Given the description of an element on the screen output the (x, y) to click on. 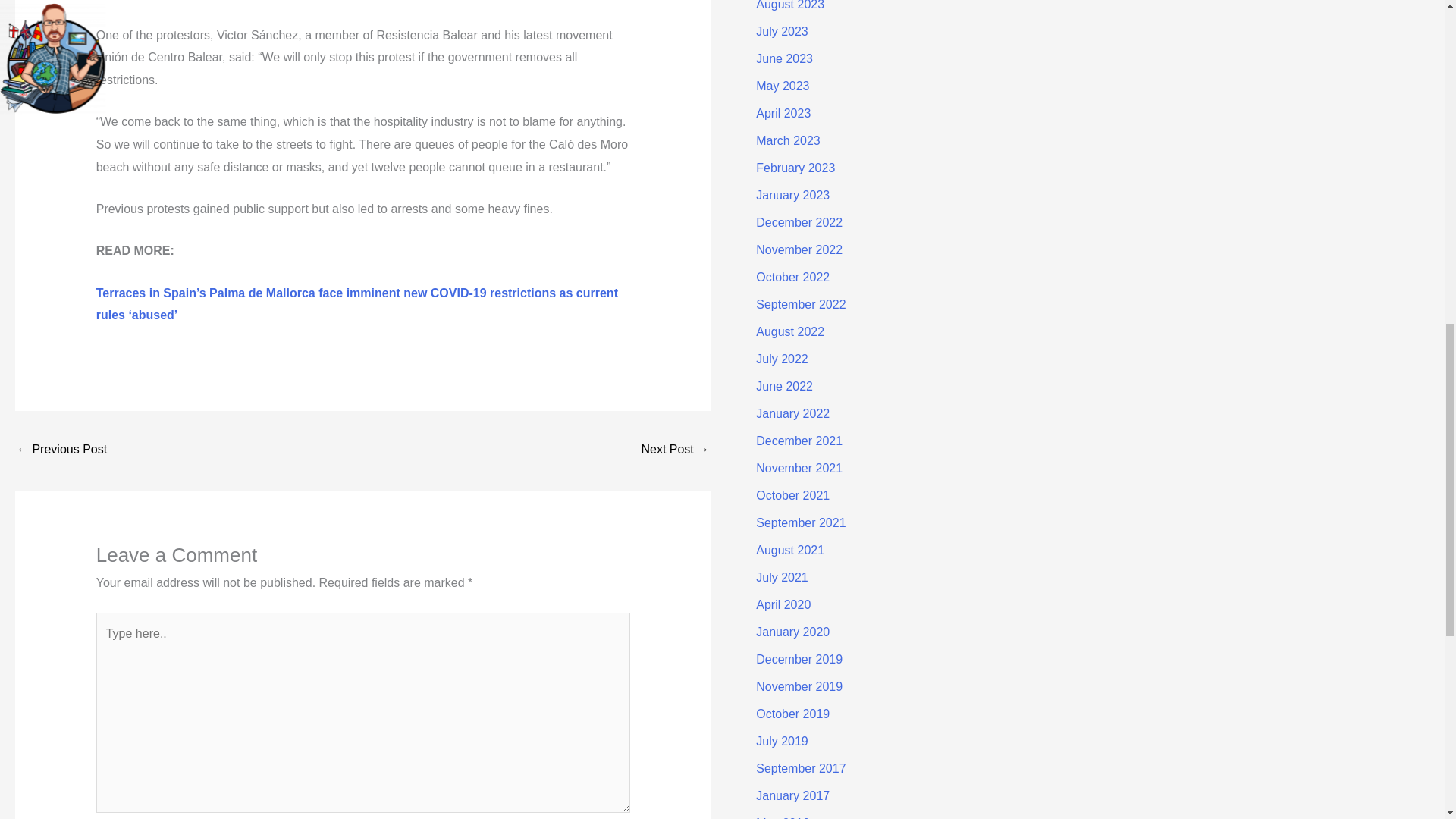
June 2023 (783, 58)
August 2023 (789, 5)
February 2023 (794, 167)
May 2023 (782, 85)
July 2023 (781, 31)
March 2023 (788, 140)
April 2023 (782, 113)
